Given the description of an element on the screen output the (x, y) to click on. 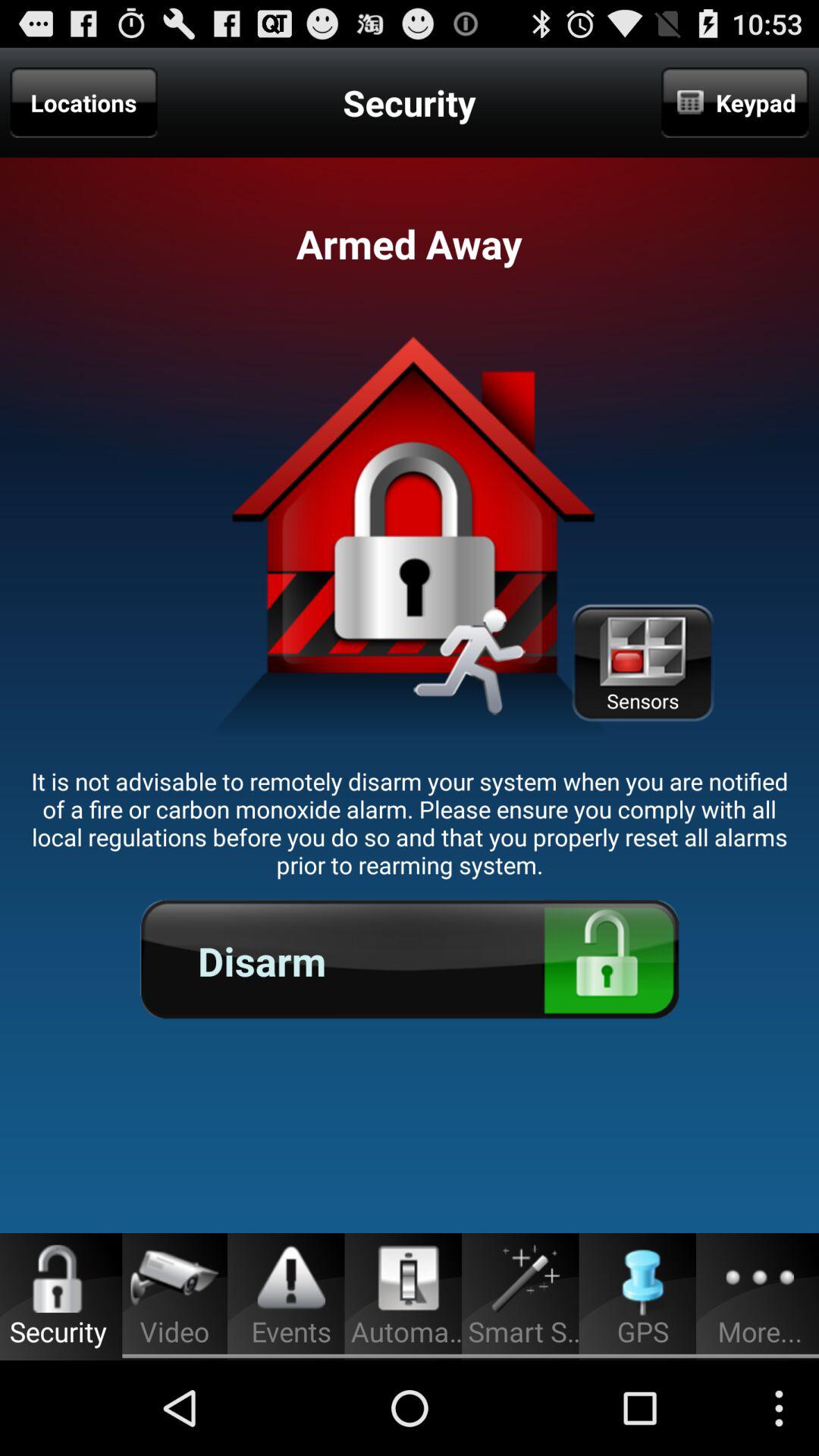
turn off locations icon (83, 102)
